Given the description of an element on the screen output the (x, y) to click on. 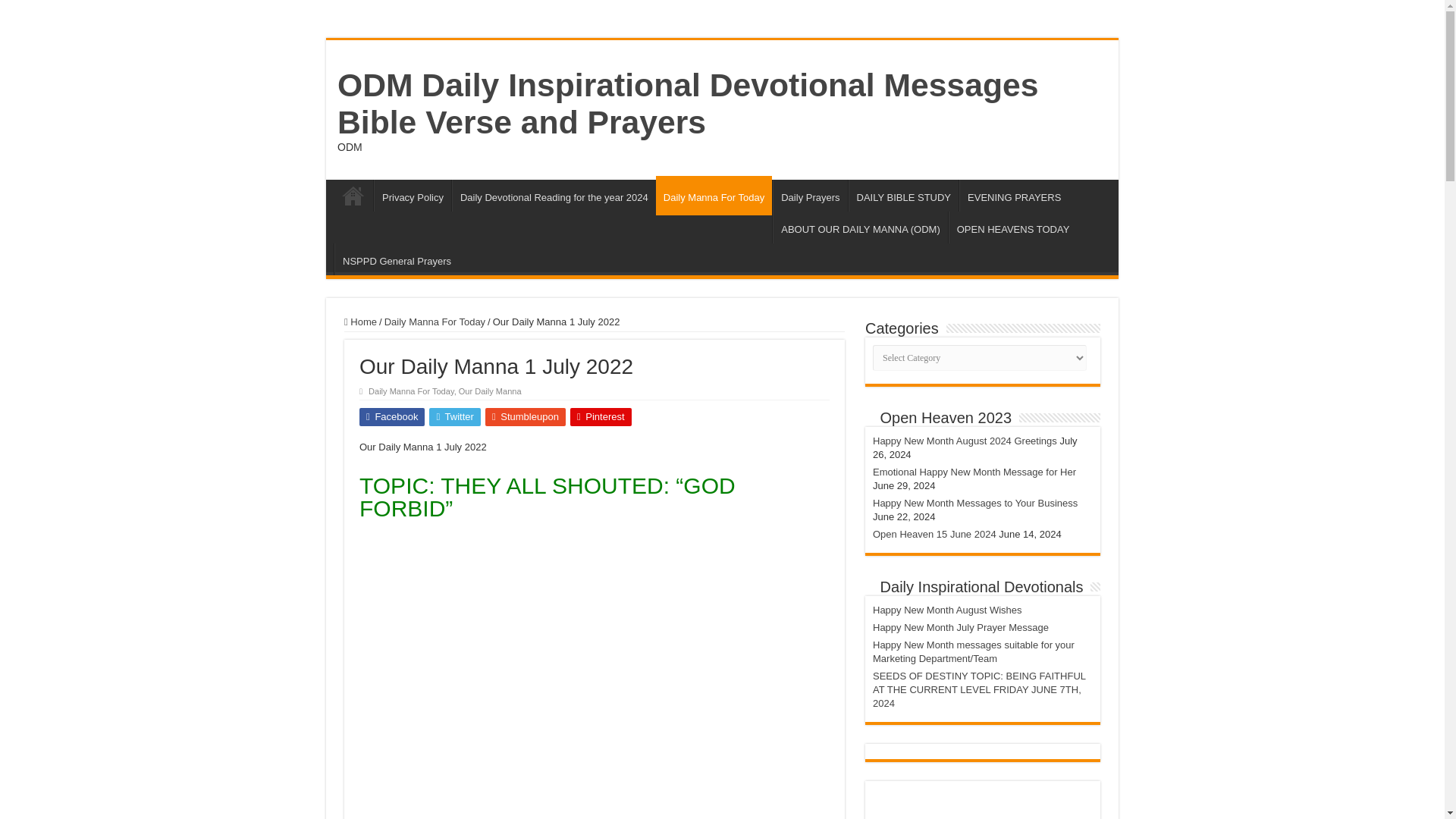
Daily Manna For Today (434, 321)
Daily Manna For Today (411, 390)
ODM Online (352, 195)
Facebook (392, 416)
Stumbleupon (525, 416)
OPEN HEAVENS TODAY (1013, 227)
Daily Manna For Today (713, 195)
NSPPD General Prayers (396, 259)
Twitter (454, 416)
